Given the description of an element on the screen output the (x, y) to click on. 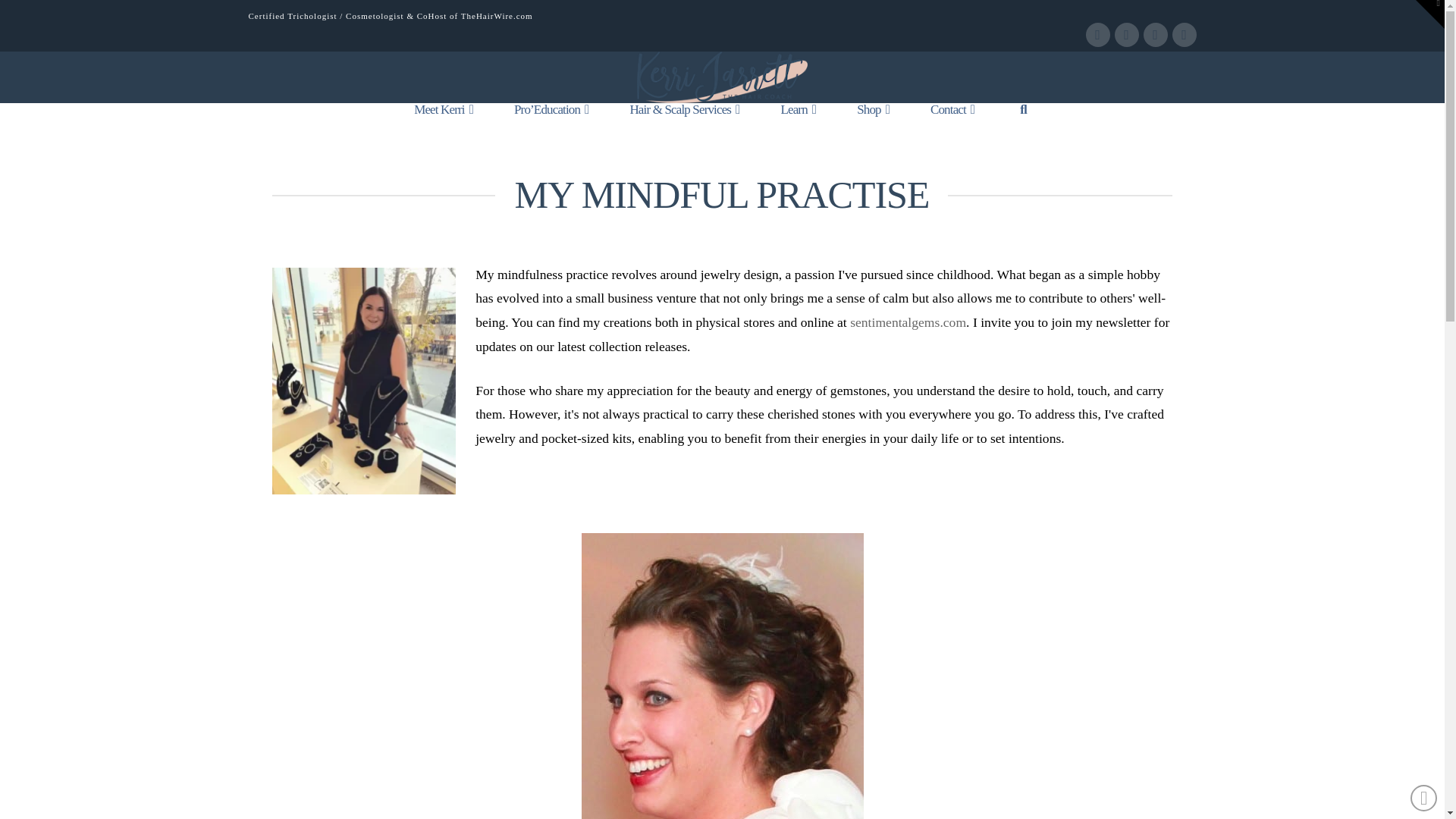
Learn (797, 121)
Back to Top (1423, 797)
Instagram (1184, 34)
Facebook (1097, 34)
Contact (952, 121)
LinkedIn (1126, 34)
Meet Kerri (443, 121)
YouTube (1154, 34)
Shop (872, 121)
TheHairWire.com (496, 15)
